Given the description of an element on the screen output the (x, y) to click on. 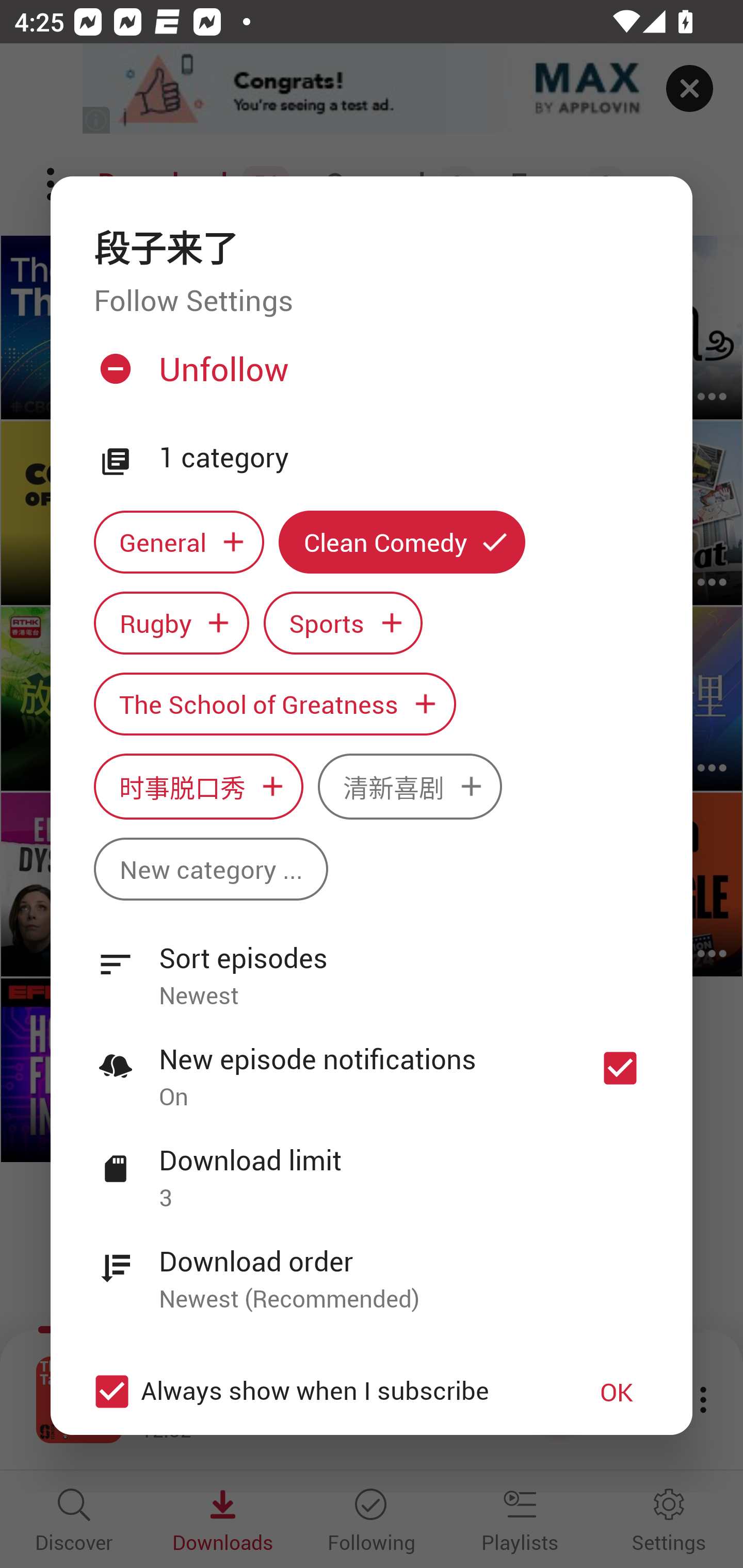
Unfollow (369, 376)
1 category (404, 457)
General (178, 542)
Clean Comedy (401, 542)
Rugby (170, 622)
Sports (342, 622)
The School of Greatness (274, 703)
时事脱口秀 (198, 787)
清新喜剧 (410, 787)
New category ... (210, 868)
Sort episodes Newest (371, 965)
New episode notifications (620, 1068)
Download limit 3 (371, 1167)
Download order Newest (Recommended) (371, 1268)
OK (616, 1391)
Always show when I subscribe (320, 1391)
